Given the description of an element on the screen output the (x, y) to click on. 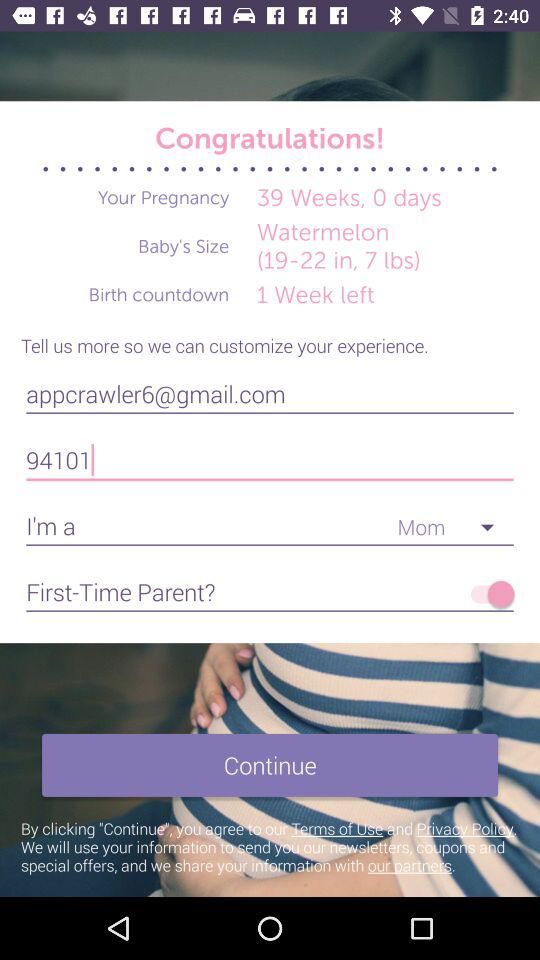
turn on the item above the i'm a item (270, 460)
